Given the description of an element on the screen output the (x, y) to click on. 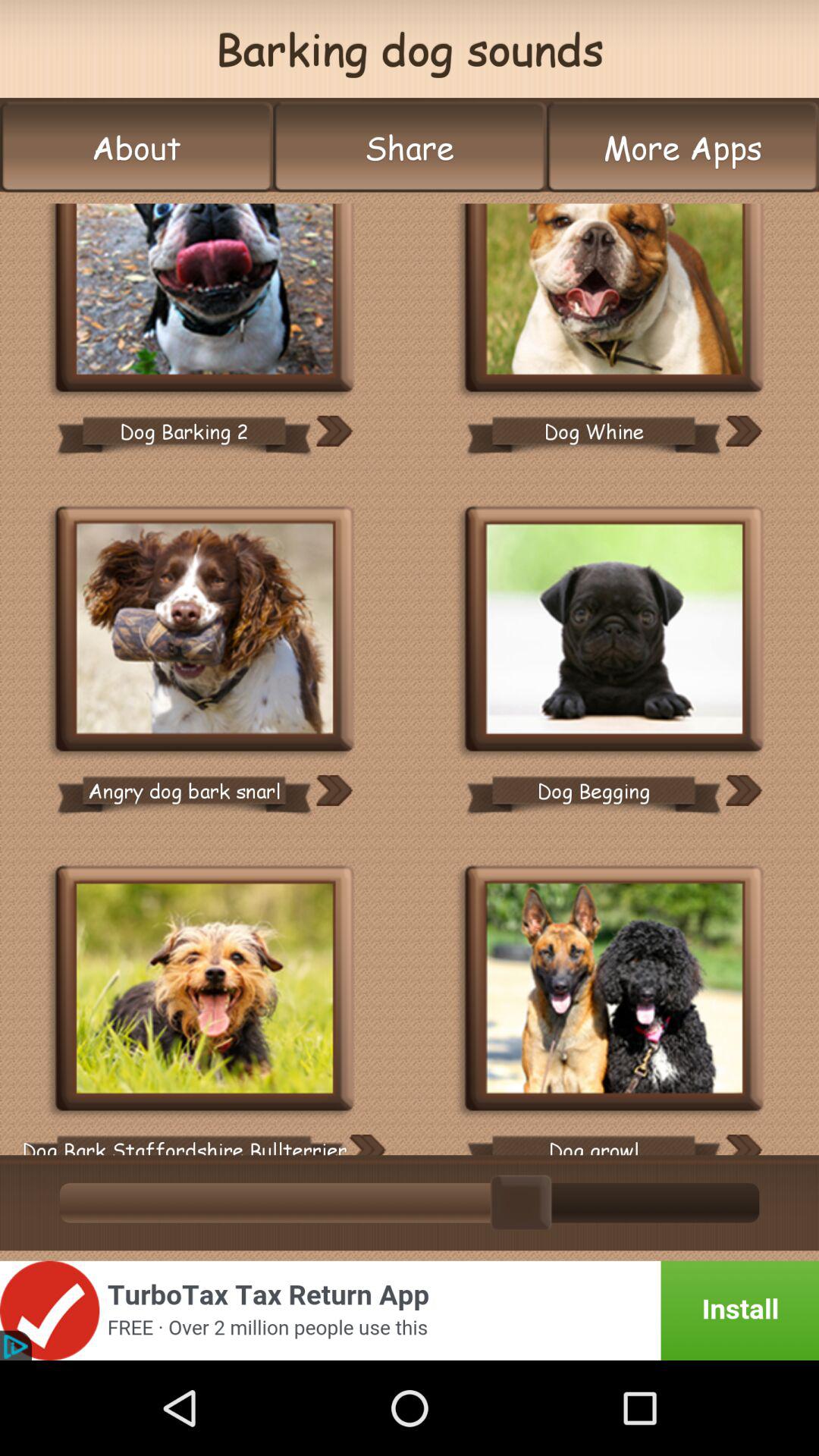
select dog (204, 990)
